Given the description of an element on the screen output the (x, y) to click on. 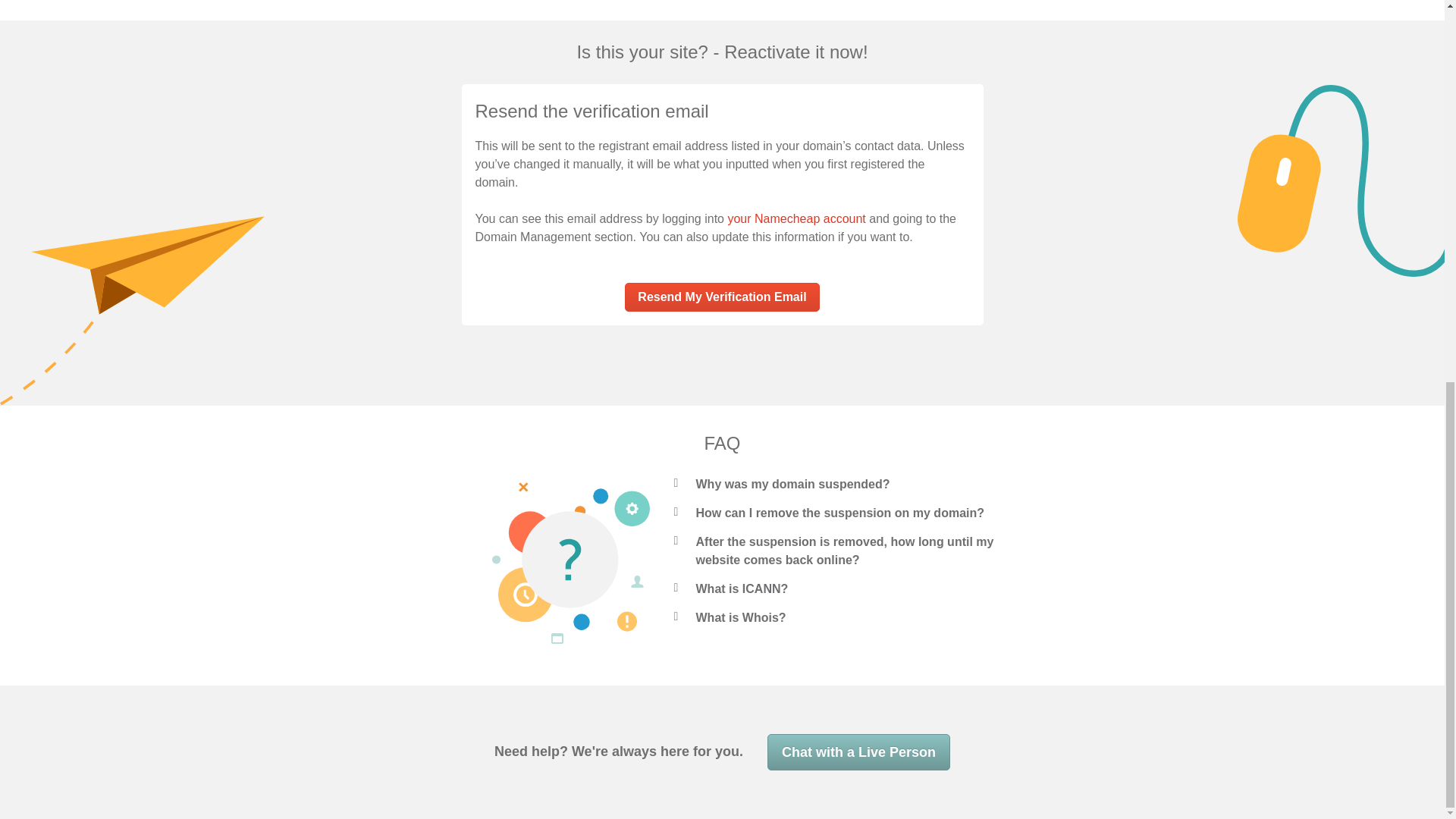
Resend My Verification Email (721, 297)
your Namecheap account (795, 218)
Chat with a Live Person (858, 751)
